Given the description of an element on the screen output the (x, y) to click on. 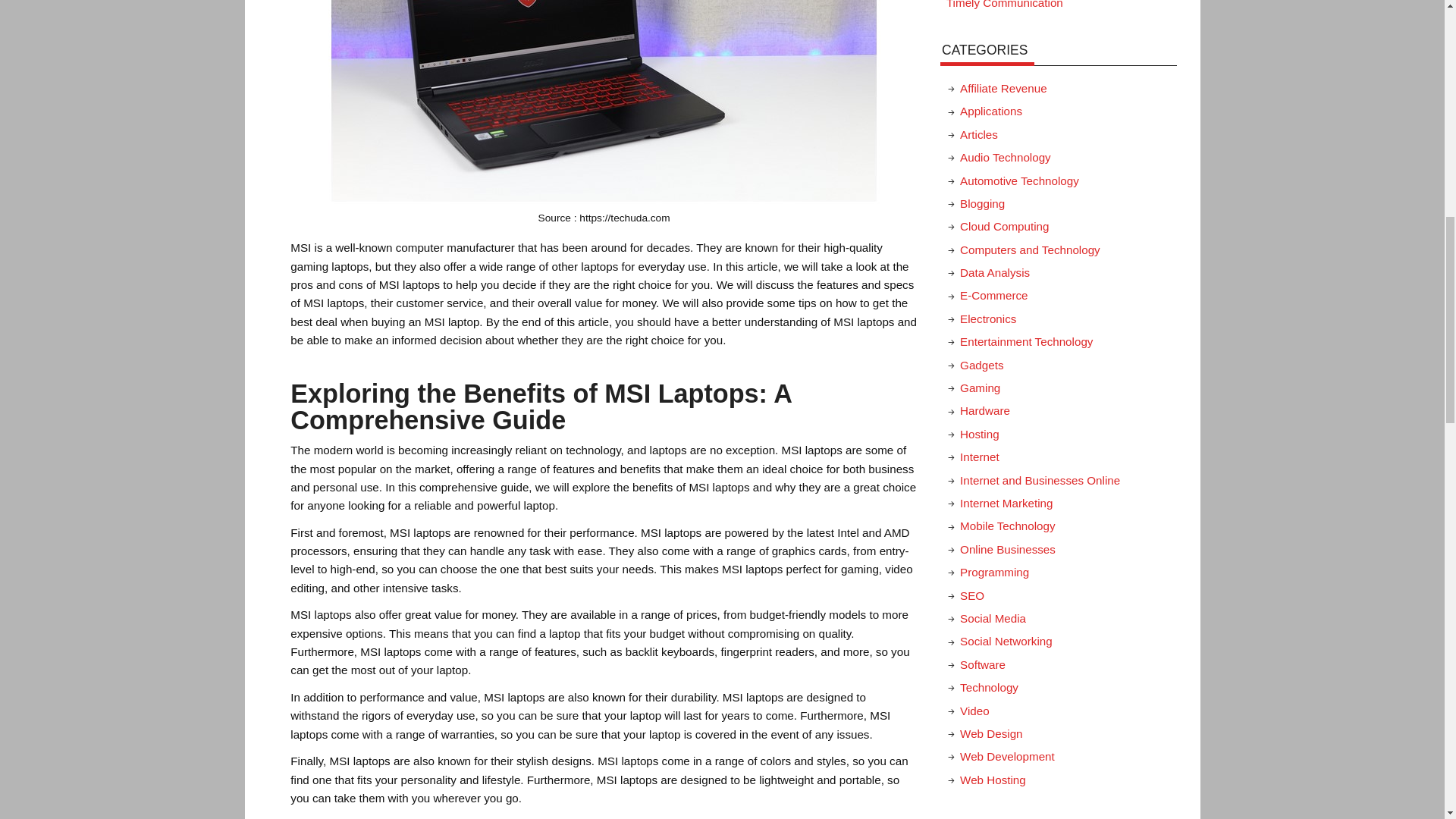
Audio Technology (1005, 156)
Applications (990, 110)
E-Commerce (993, 295)
Electronics (987, 318)
Data Analysis (994, 272)
Blogging (981, 203)
Gadgets (981, 364)
Entertainment Technology (1026, 341)
Affiliate Revenue (1002, 88)
Articles (978, 133)
